Given the description of an element on the screen output the (x, y) to click on. 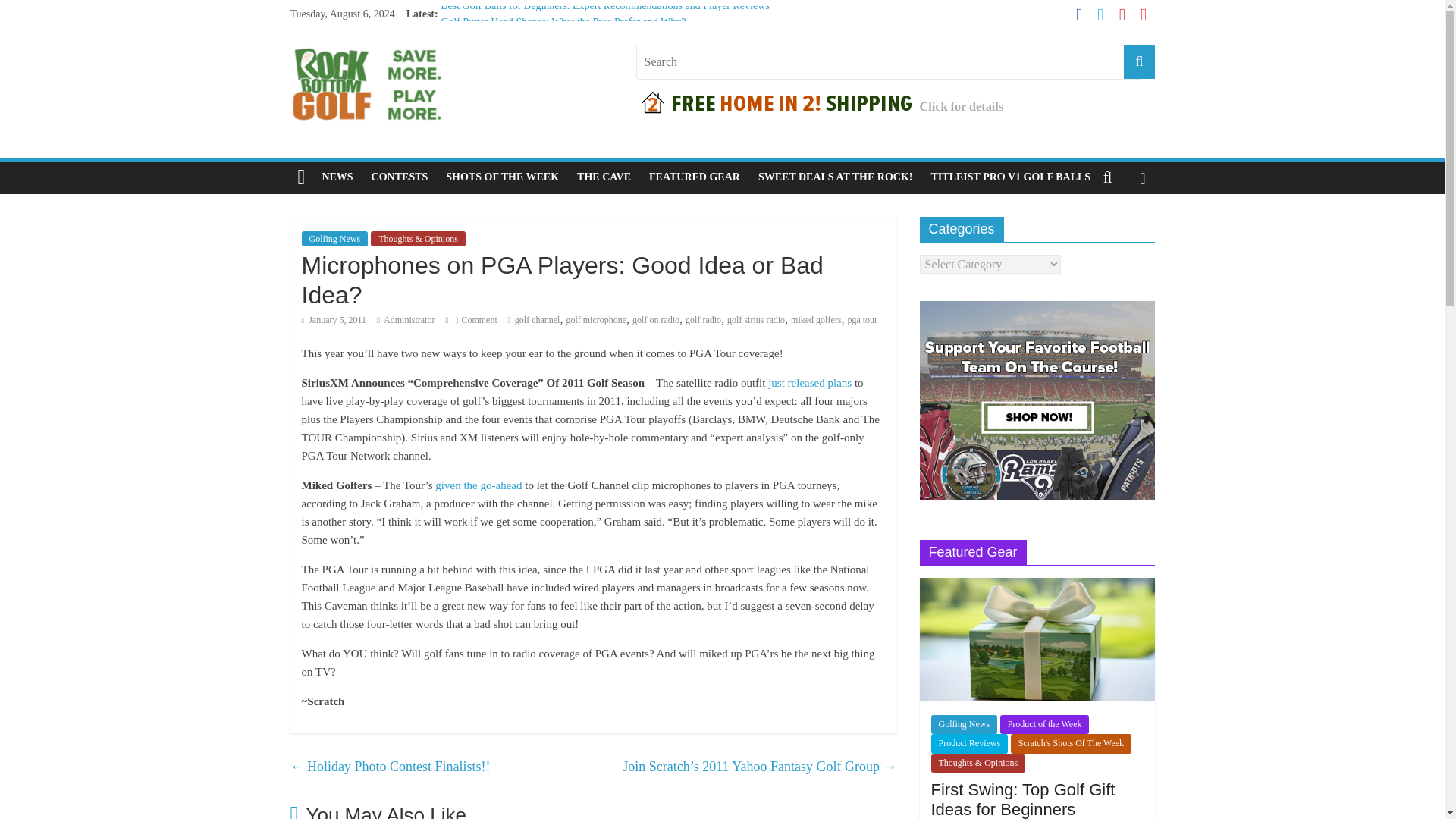
Golfing News (334, 238)
Administrator (408, 319)
golf on radio (655, 319)
January 5, 2011 (333, 319)
SWEET DEALS AT THE ROCK! (835, 177)
golf radio (702, 319)
Golf Putter Head Shapes: What the Pros Prefer and Why? (563, 21)
miked golfers (815, 319)
pga tour (862, 319)
given the go-ahead (478, 485)
Administrator (408, 319)
THE CAVE (603, 177)
